Given the description of an element on the screen output the (x, y) to click on. 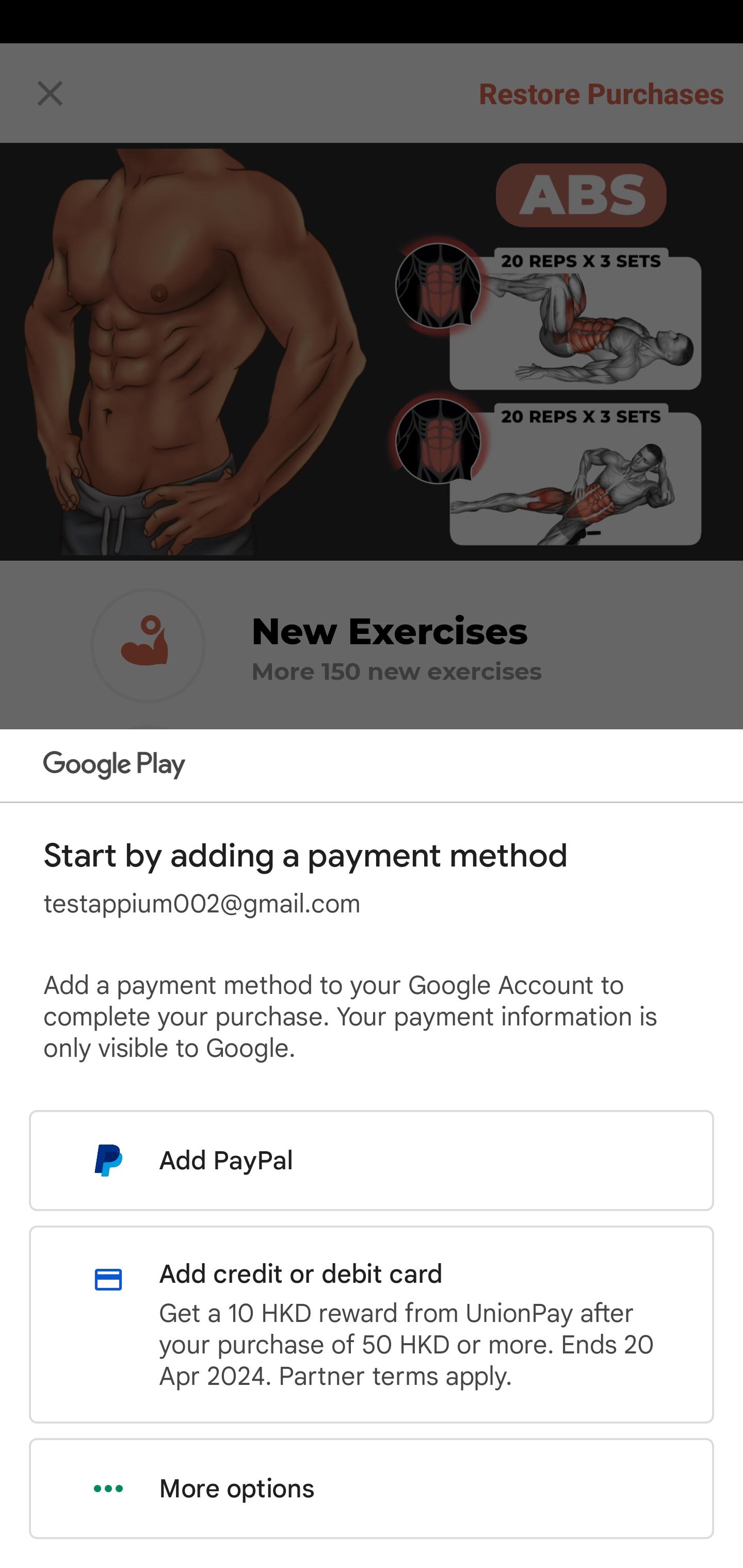
Add PayPal (371, 1160)
More options (371, 1488)
